Given the description of an element on the screen output the (x, y) to click on. 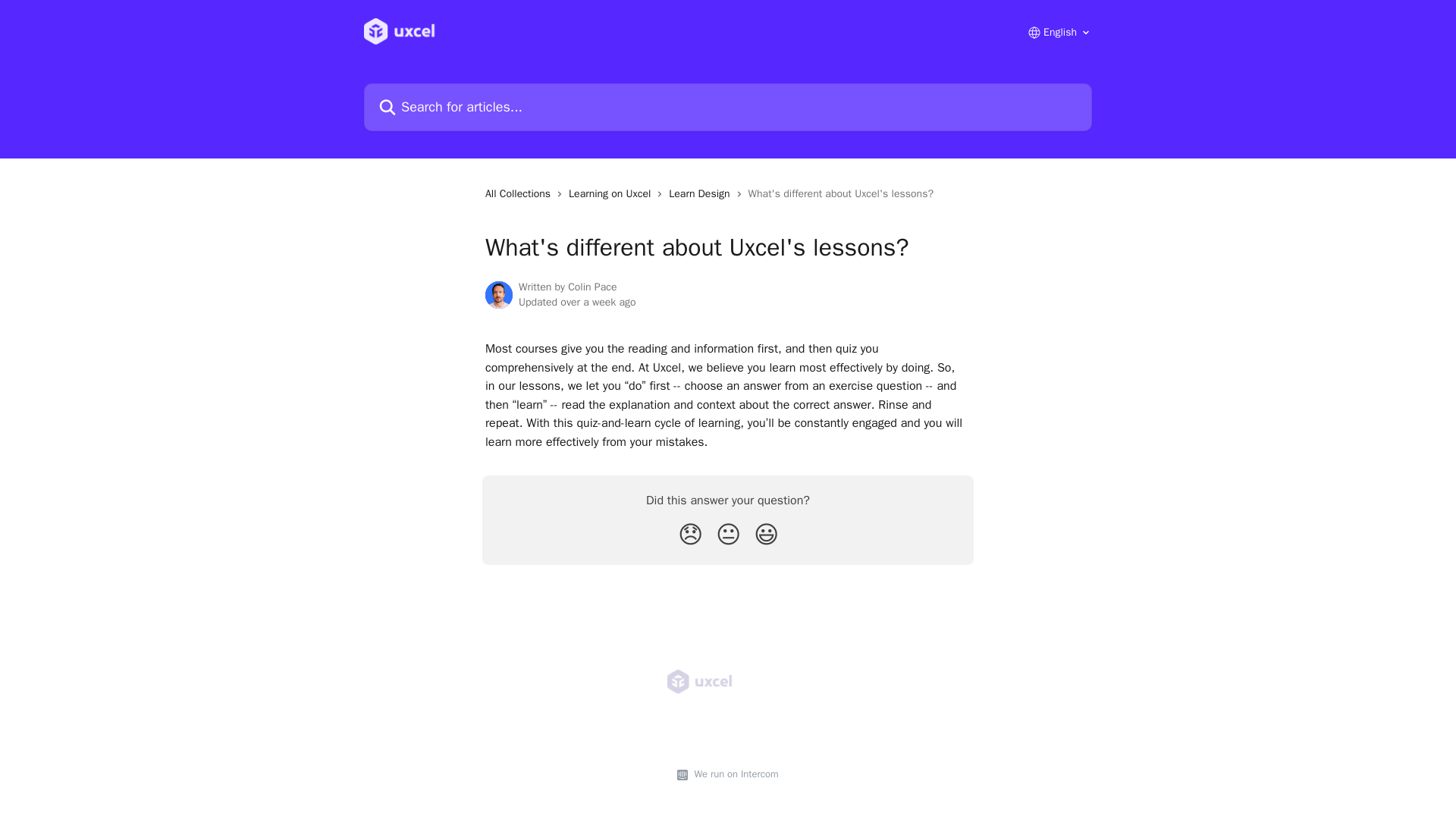
We run on Intercom (732, 774)
Learning on Uxcel (612, 193)
Learn Design (701, 193)
All Collections (520, 193)
